Given the description of an element on the screen output the (x, y) to click on. 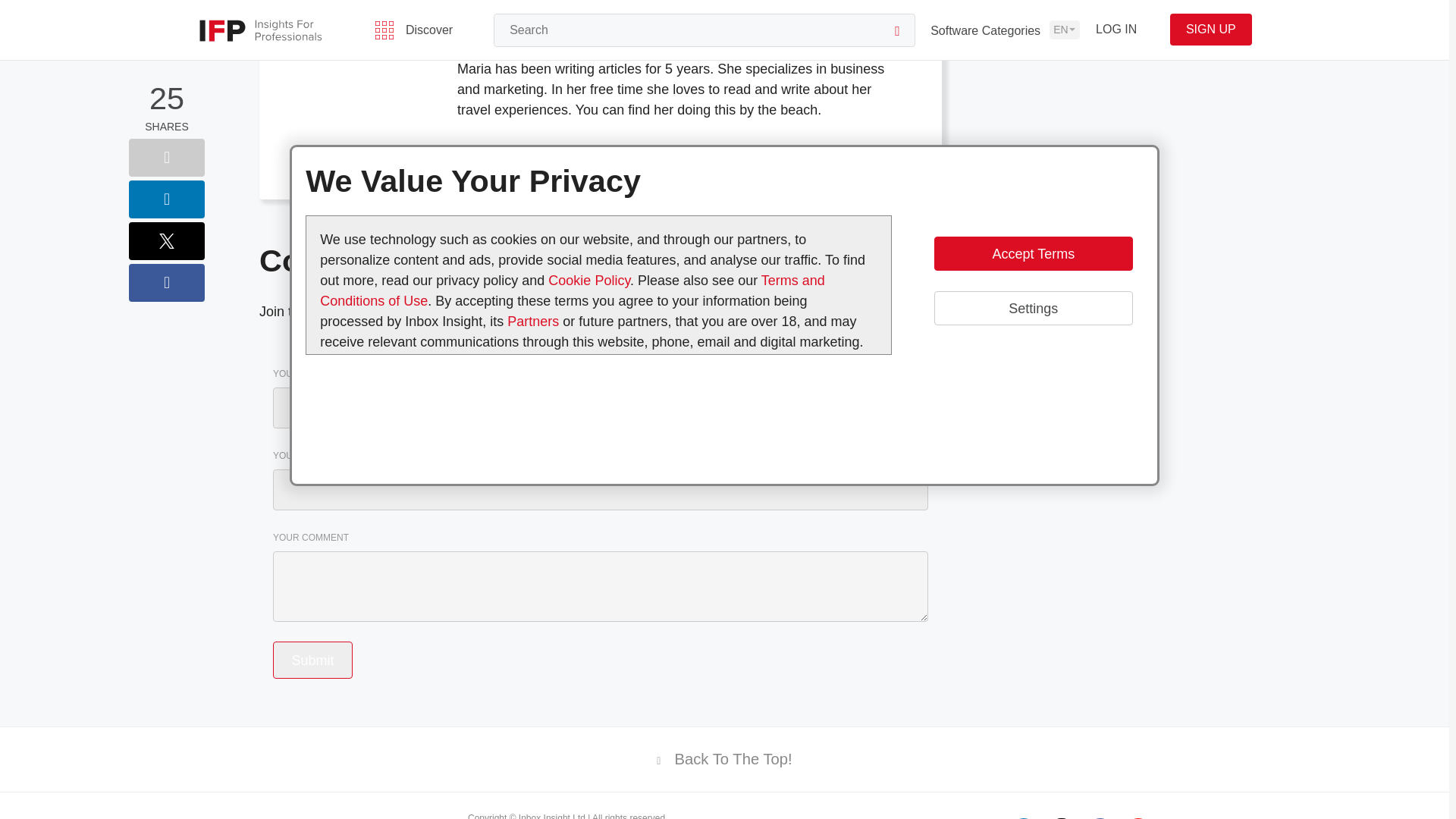
Submit (312, 659)
